Given the description of an element on the screen output the (x, y) to click on. 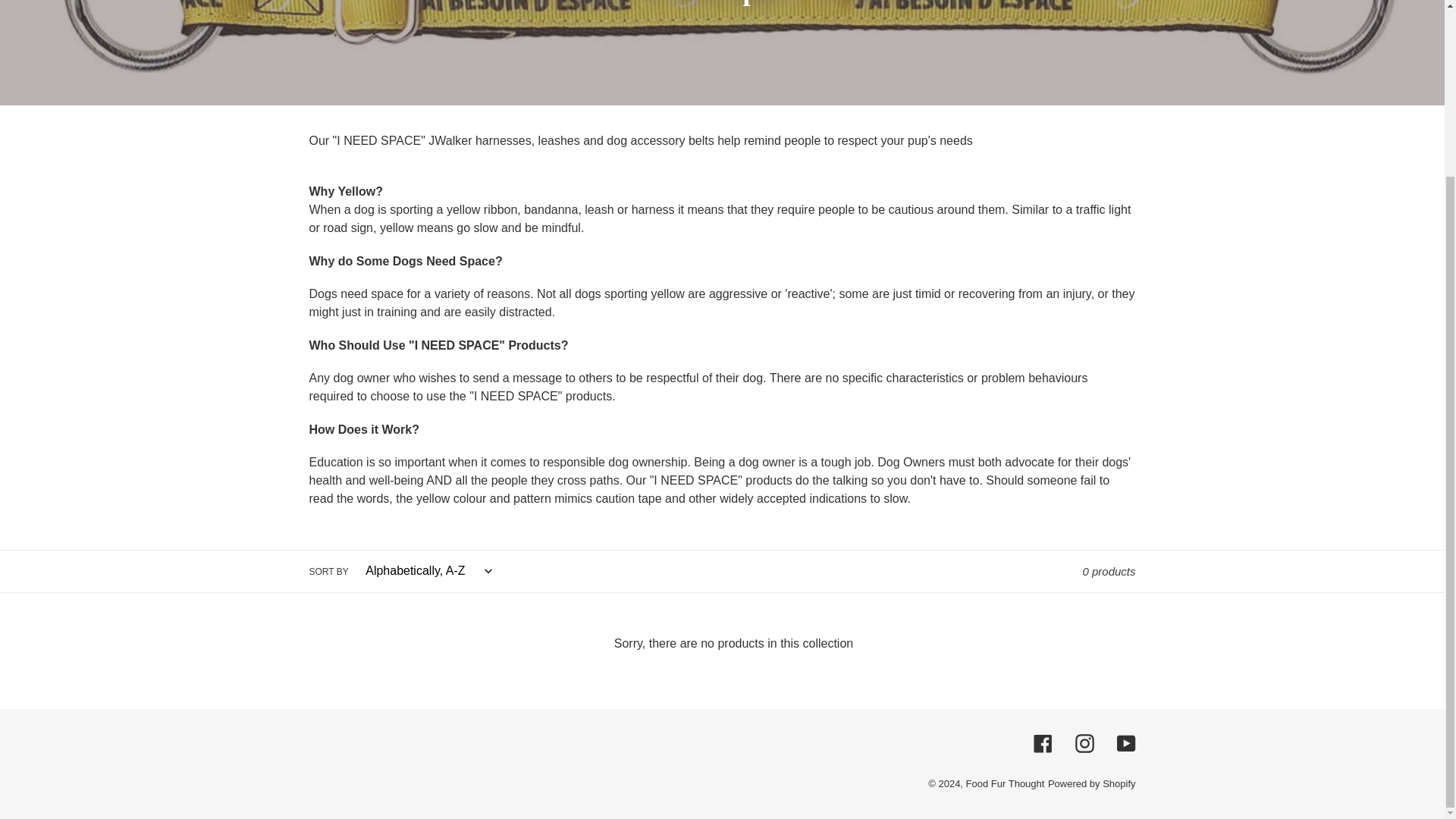
Instagram (1084, 742)
Facebook (1041, 742)
Powered by Shopify (1091, 783)
Food Fur Thought (1005, 783)
YouTube (1125, 742)
